Given the description of an element on the screen output the (x, y) to click on. 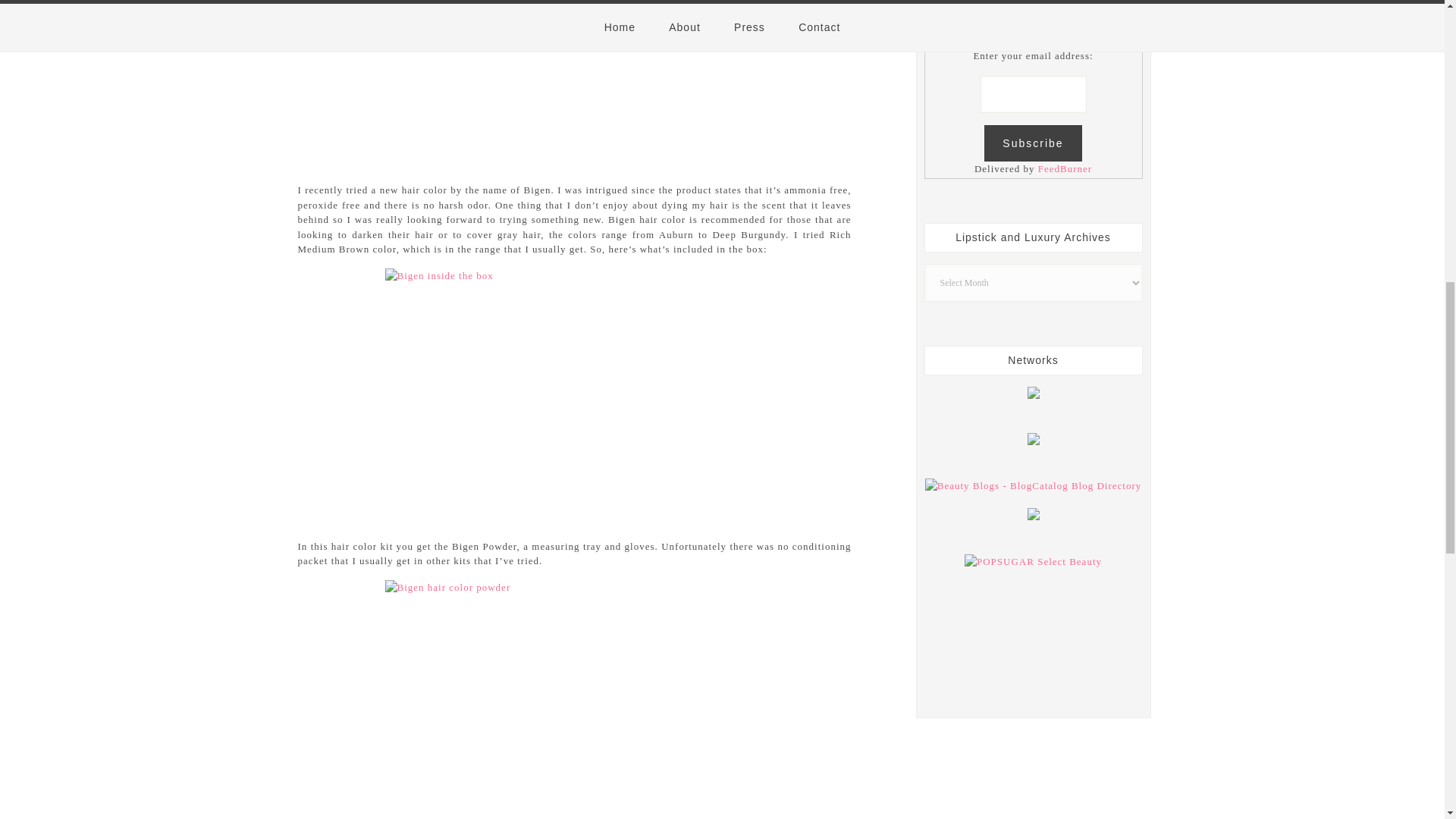
inside-bigen-hair-color-box (574, 394)
bigen-permanent-powder-hair-color (574, 82)
Subscribe (1032, 143)
Subscribe (1032, 143)
FeedBurner (1065, 168)
Beauty Blogs - BlogCatalog Blog Directory (1032, 485)
bigen-hair-color-powder (574, 699)
